Given the description of an element on the screen output the (x, y) to click on. 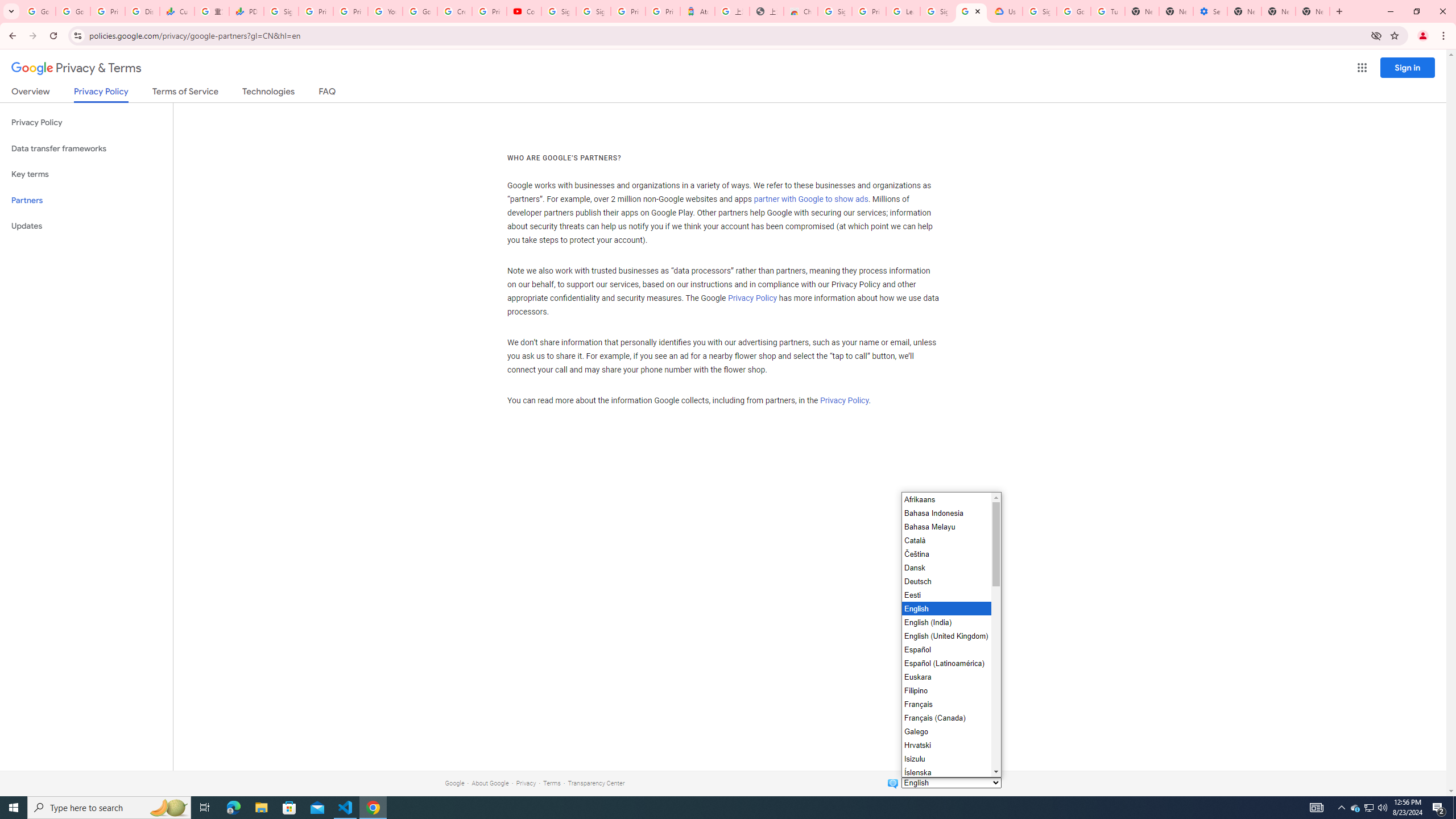
Italiano (945, 785)
